Given the description of an element on the screen output the (x, y) to click on. 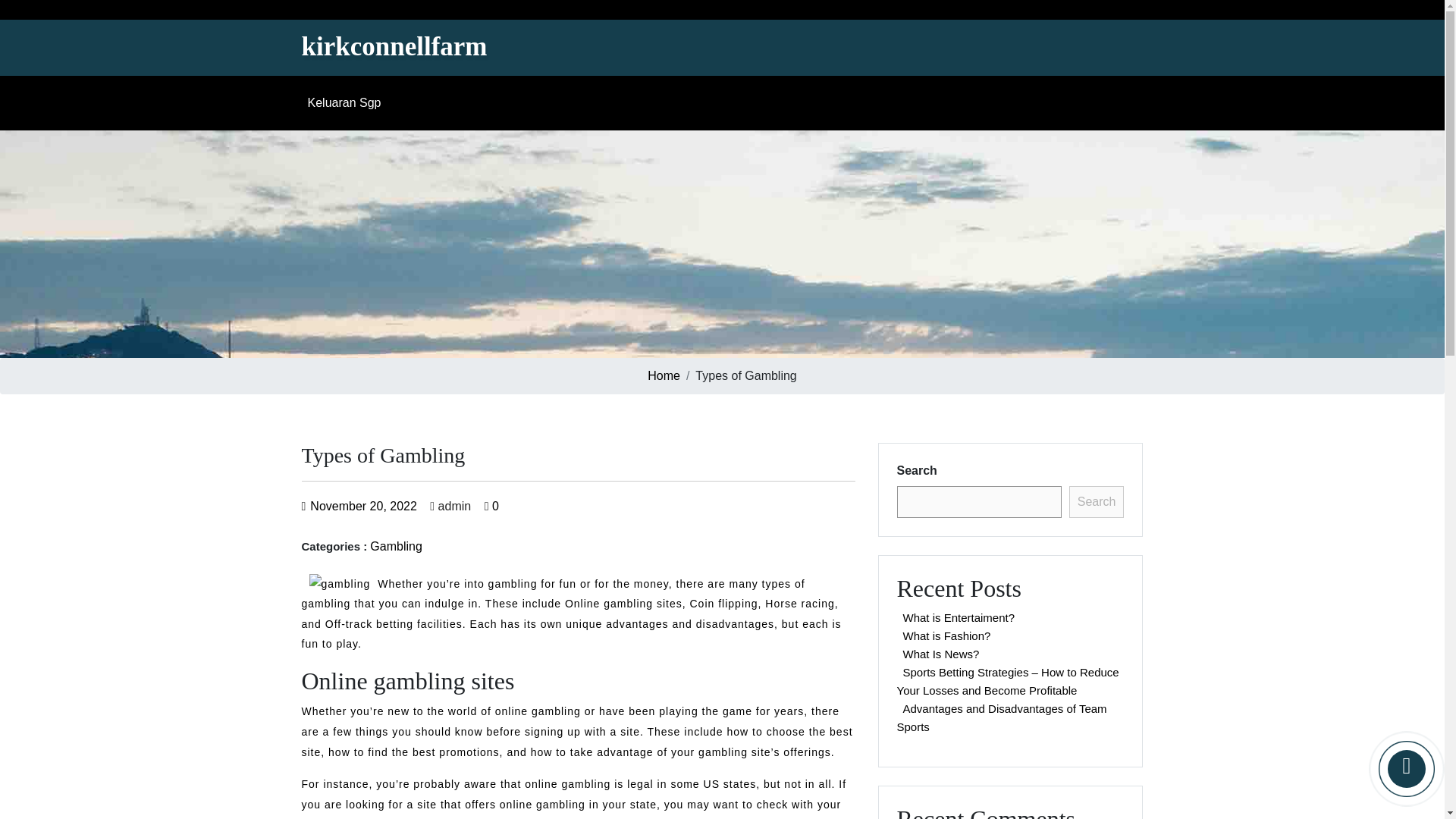
kirkconnellfarm (394, 46)
What Is News? (940, 653)
What is Fashion? (945, 635)
admin (449, 505)
Advantages and Disadvantages of Team Sports (1001, 717)
What is Entertaiment? (958, 617)
Gambling (395, 545)
Keluaran Sgp (347, 102)
Search (1096, 501)
Home (663, 375)
Types of Gambling (394, 46)
Keluaran Sgp (347, 102)
